Given the description of an element on the screen output the (x, y) to click on. 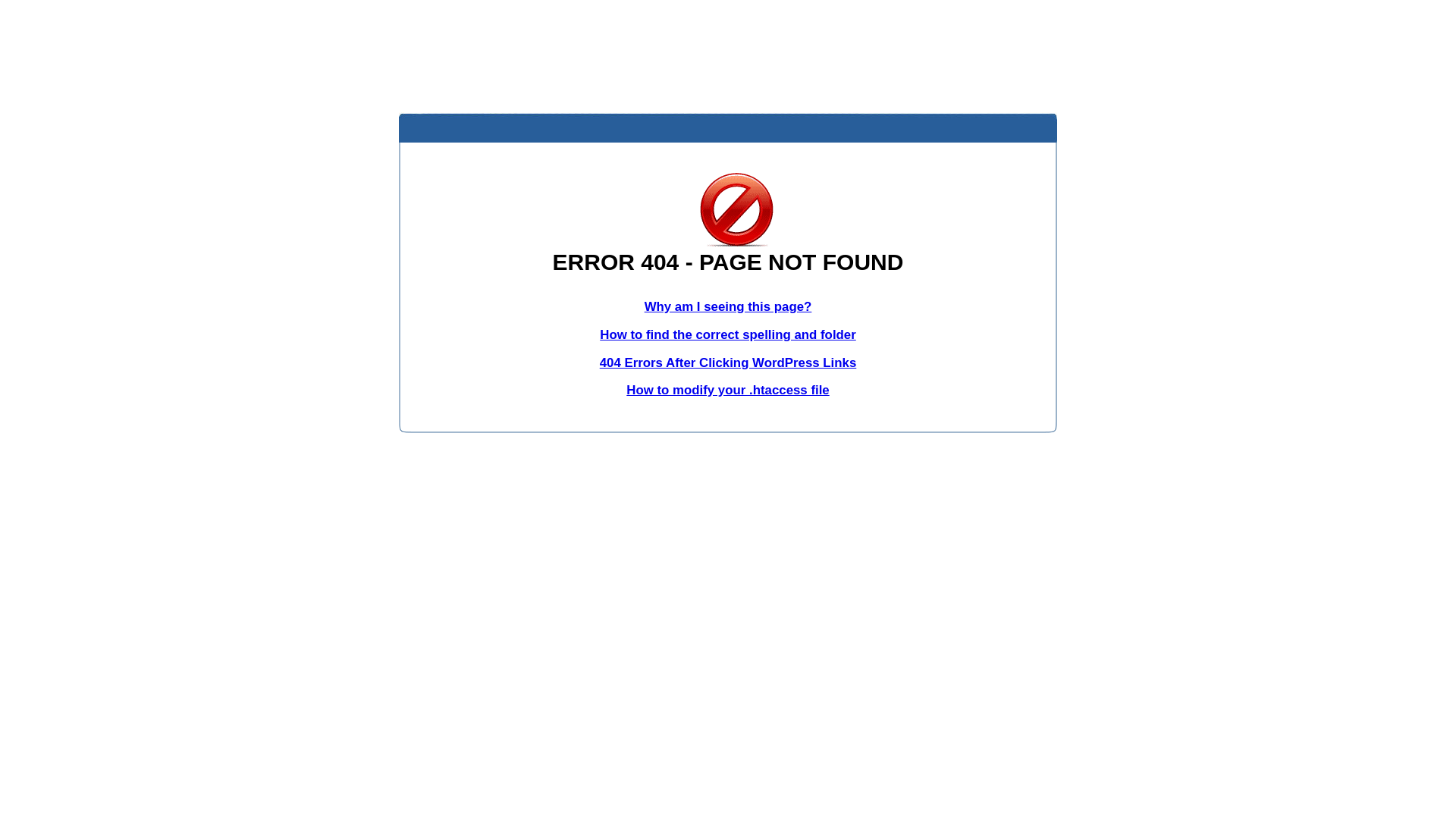
404 Errors After Clicking WordPress Links Element type: text (727, 362)
Why am I seeing this page? Element type: text (728, 306)
How to find the correct spelling and folder Element type: text (727, 334)
How to modify your .htaccess file Element type: text (727, 389)
